Given the description of an element on the screen output the (x, y) to click on. 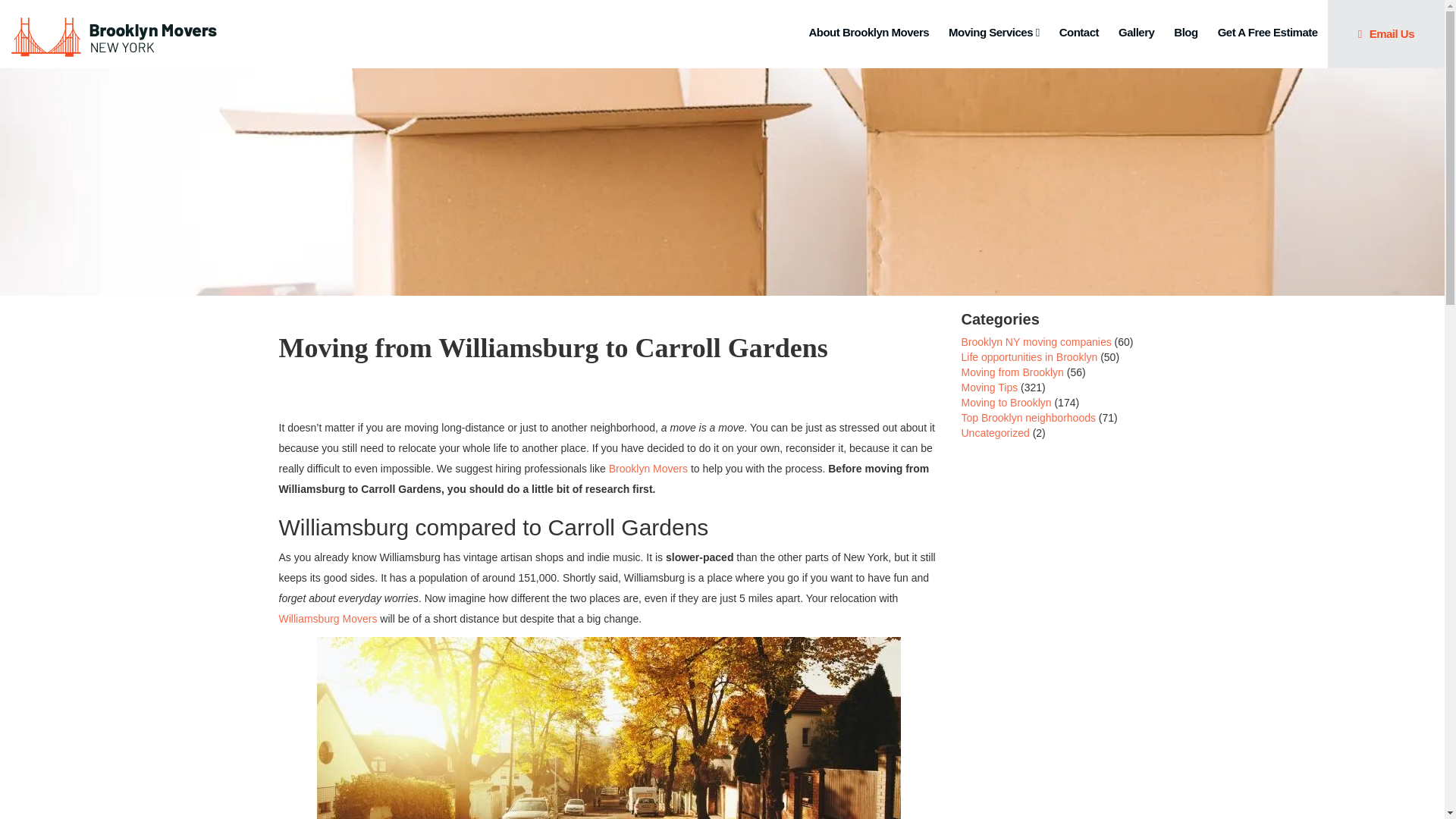
Moving to Brooklyn (1005, 402)
Moving Services (993, 32)
Moving Services (993, 32)
Get A Free Estimate (1266, 32)
Brooklyn NY moving companies (1036, 341)
Top Brooklyn neighborhoods (1028, 417)
Uncategorized (994, 432)
Life opportunities in Brooklyn (1028, 357)
Moving from Brooklyn (1012, 372)
Williamsburg Movers (328, 618)
Email Us (1386, 33)
Brooklyn Movers (647, 468)
About Brooklyn Movers (868, 32)
Moving Tips (988, 387)
About Brooklyn Movers (868, 32)
